Given the description of an element on the screen output the (x, y) to click on. 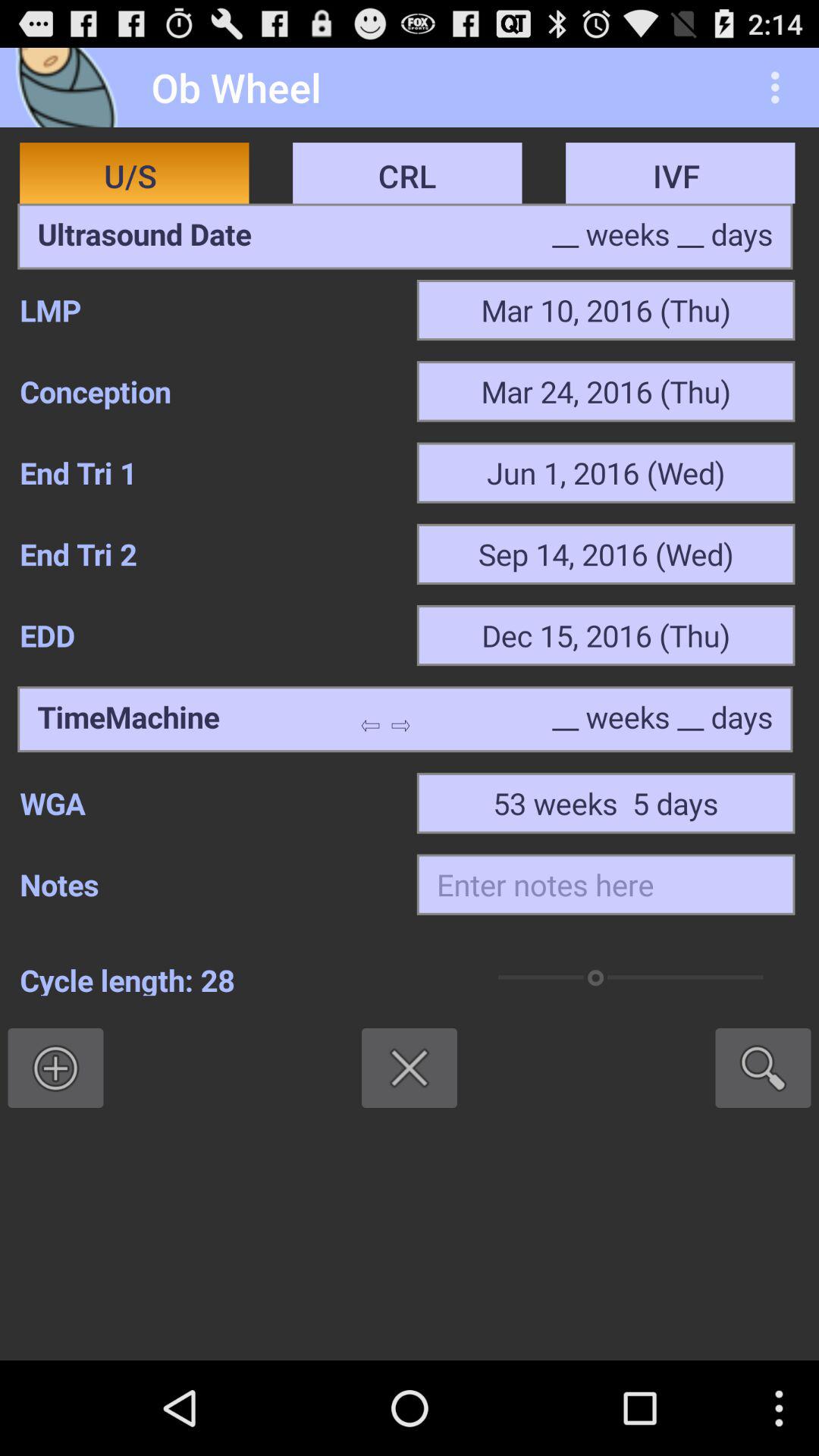
ultrasound date (144, 236)
